Given the description of an element on the screen output the (x, y) to click on. 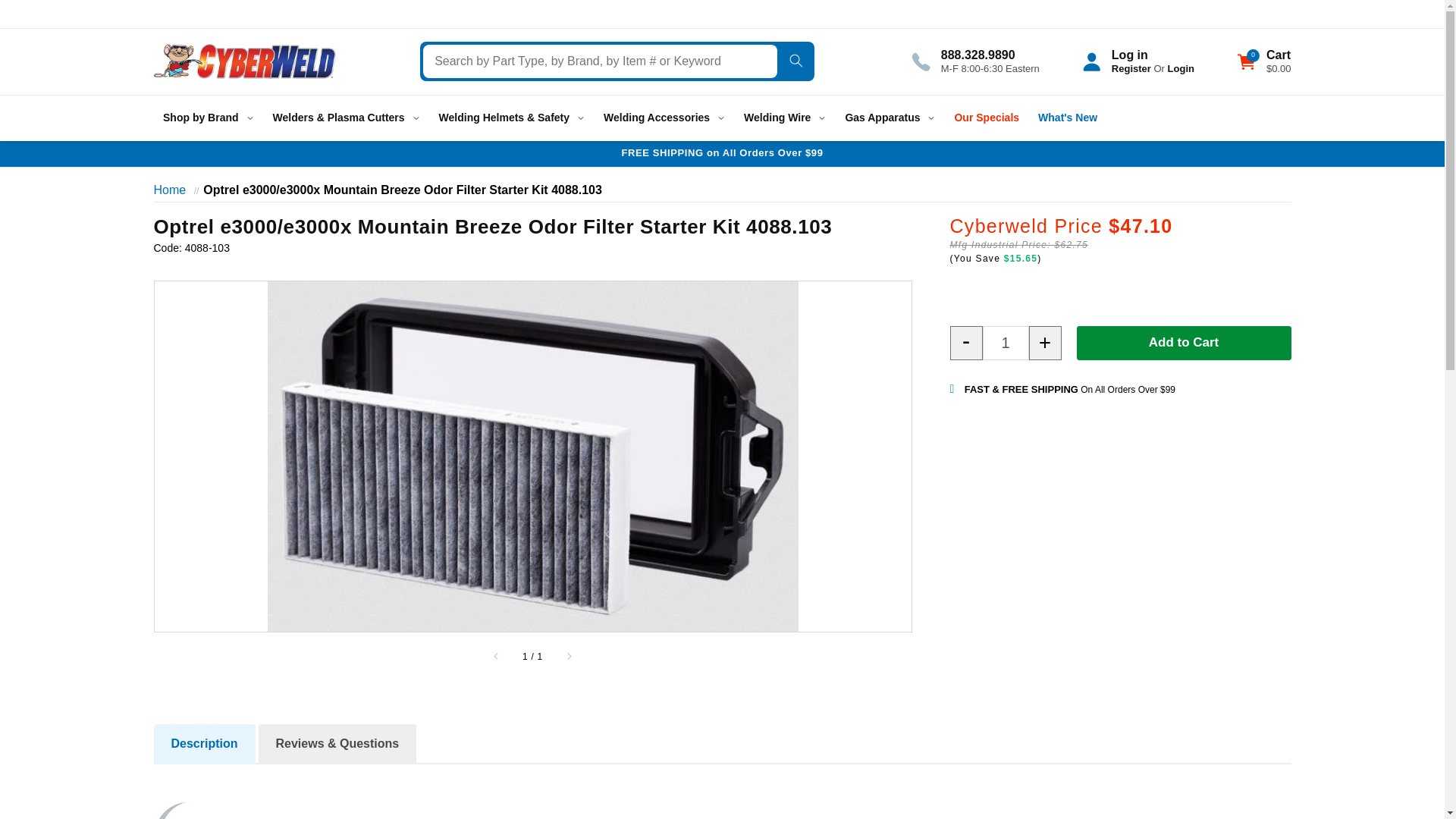
1 (1005, 342)
Register (1131, 68)
Log in (1130, 54)
Skip to content (45, 16)
Login (1180, 68)
Shop by Brand (207, 117)
PayPal Message 1 (1119, 290)
